Given the description of an element on the screen output the (x, y) to click on. 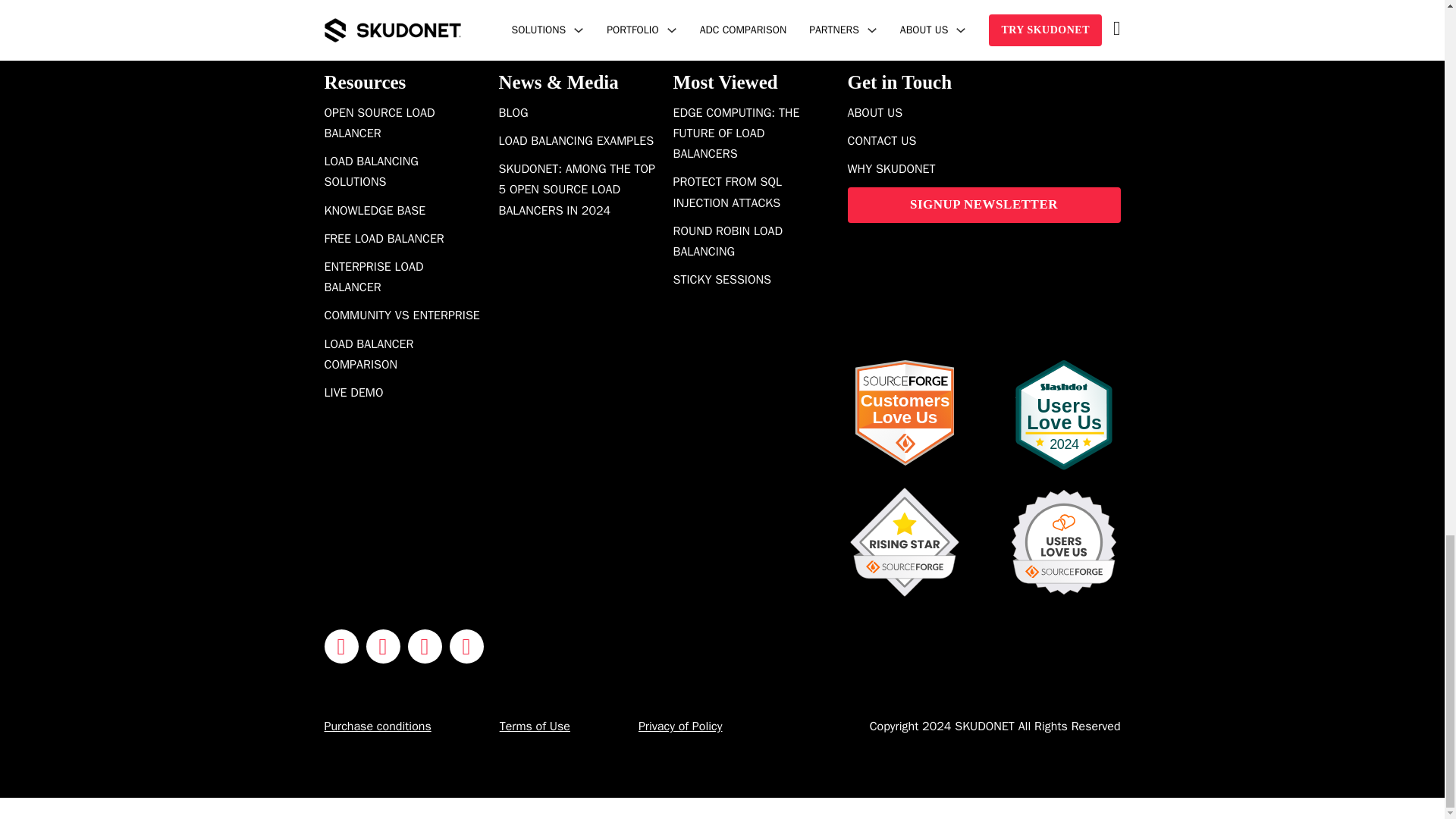
Open SOurce Load Balancer (403, 123)
